Given the description of an element on the screen output the (x, y) to click on. 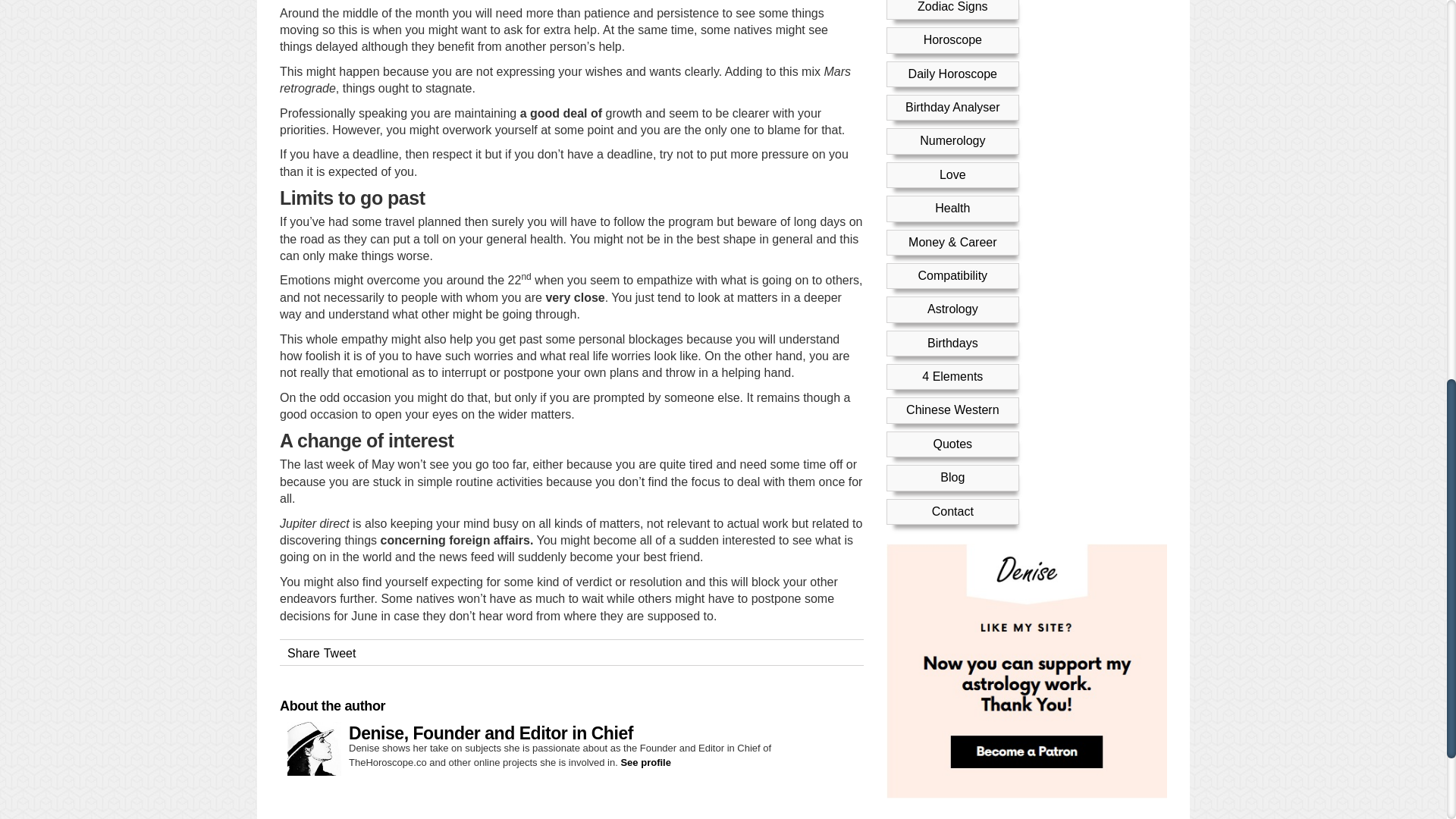
4 Elements (952, 141)
Astrology (952, 73)
Blog (952, 241)
Compatibility (952, 40)
Chinese Western (952, 174)
Quotes (952, 208)
Birthdays (952, 107)
